Given the description of an element on the screen output the (x, y) to click on. 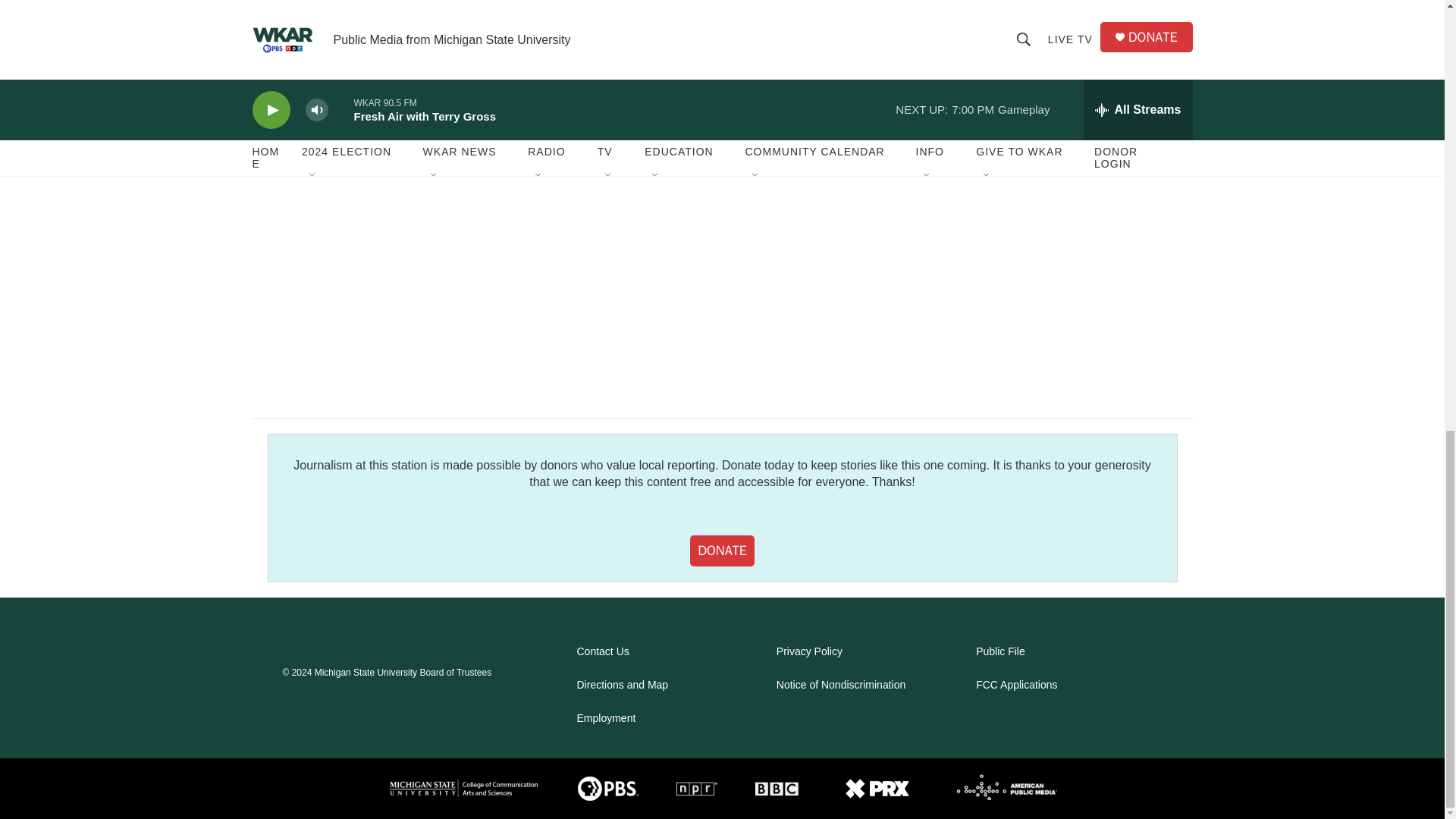
3rd party ad content (1062, 262)
3rd party ad content (1062, 54)
